Given the description of an element on the screen output the (x, y) to click on. 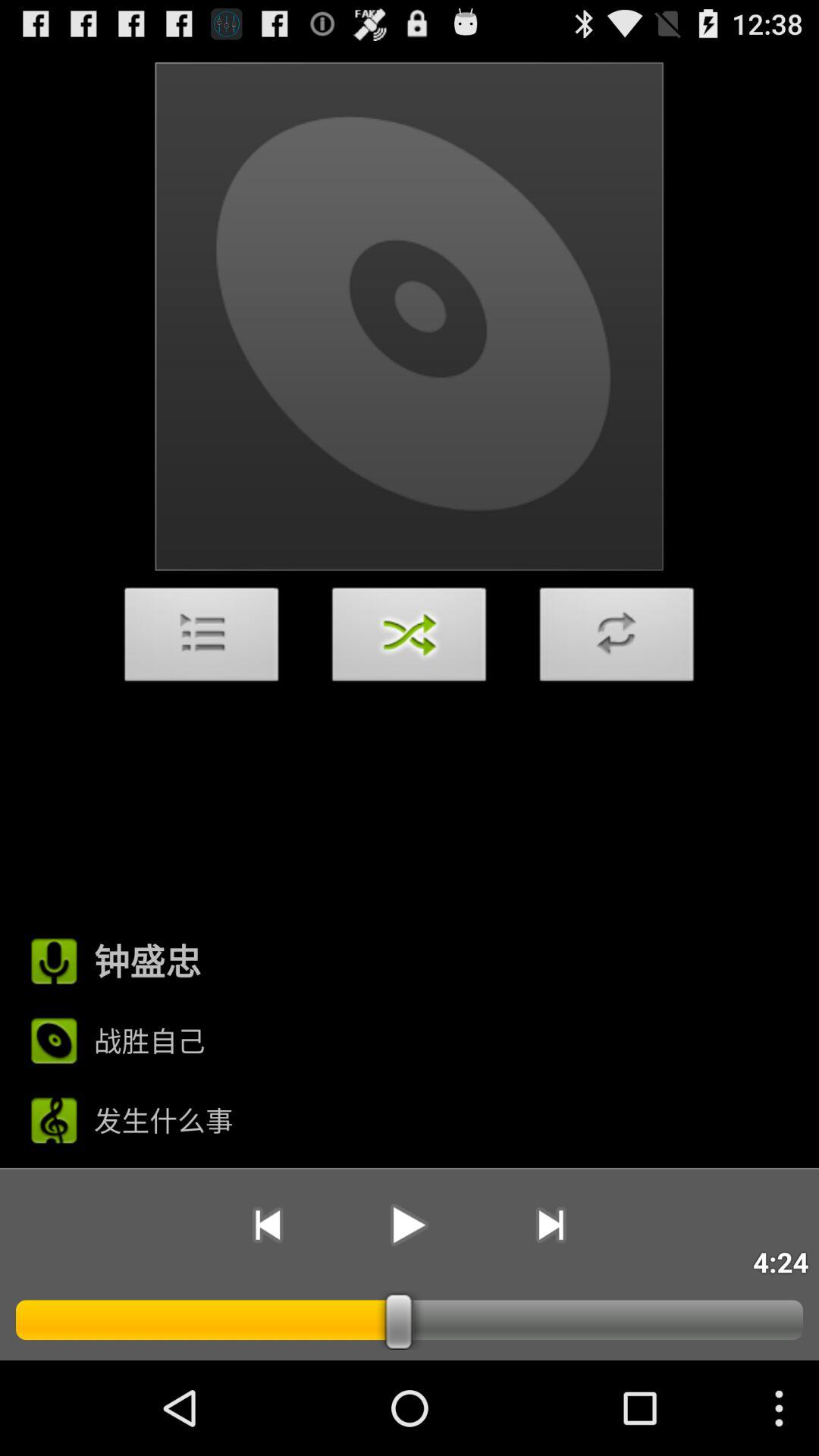
press the app next to the 4:24 app (550, 1224)
